Given the description of an element on the screen output the (x, y) to click on. 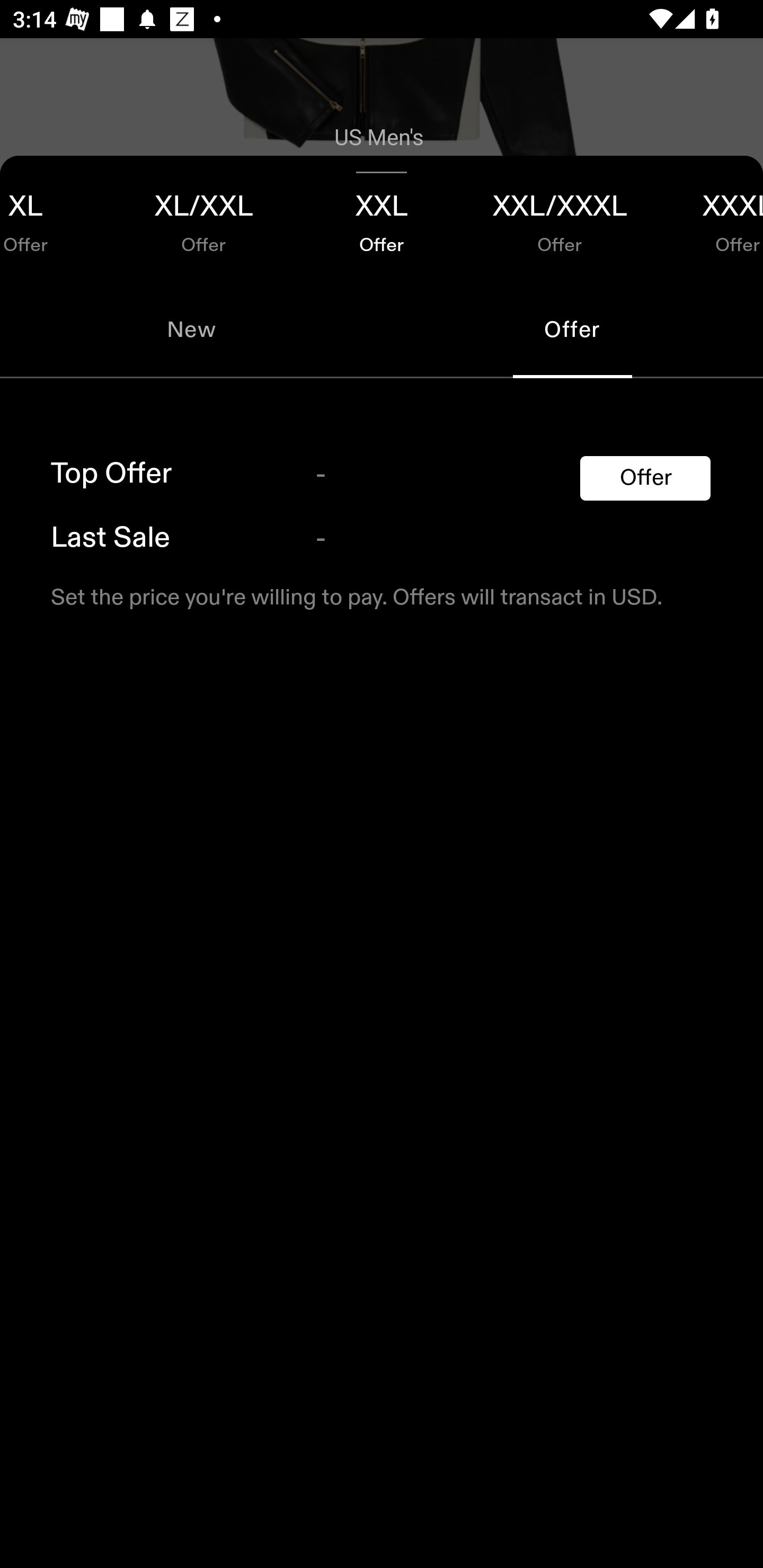
XL/XXL Offer (203, 218)
XXL Offer (381, 218)
XXL/XXXL Offer (559, 218)
XXXL Offer (705, 218)
New (190, 329)
Offer (644, 477)
